Given the description of an element on the screen output the (x, y) to click on. 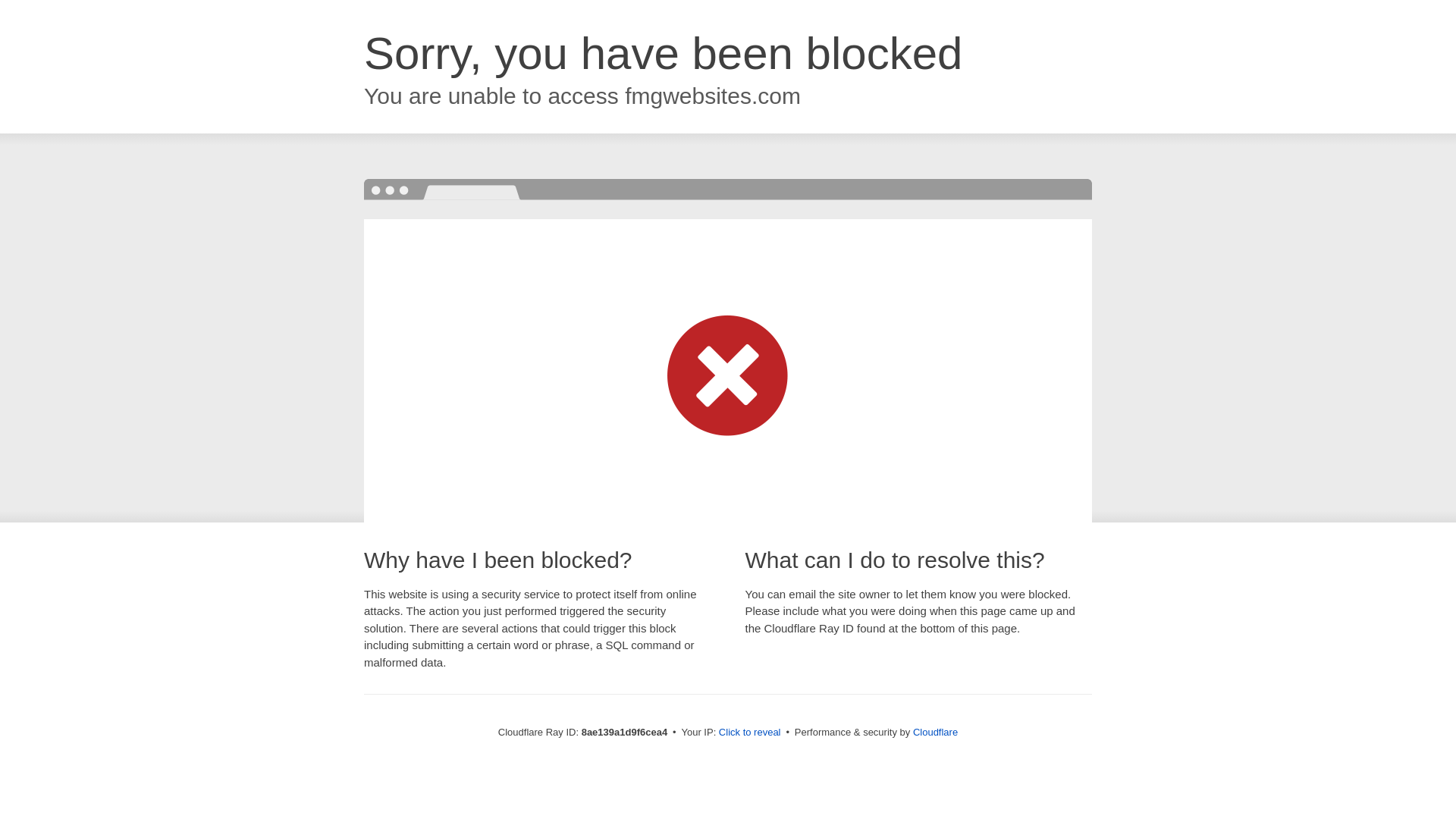
Click to reveal (749, 732)
Cloudflare (935, 731)
